Given the description of an element on the screen output the (x, y) to click on. 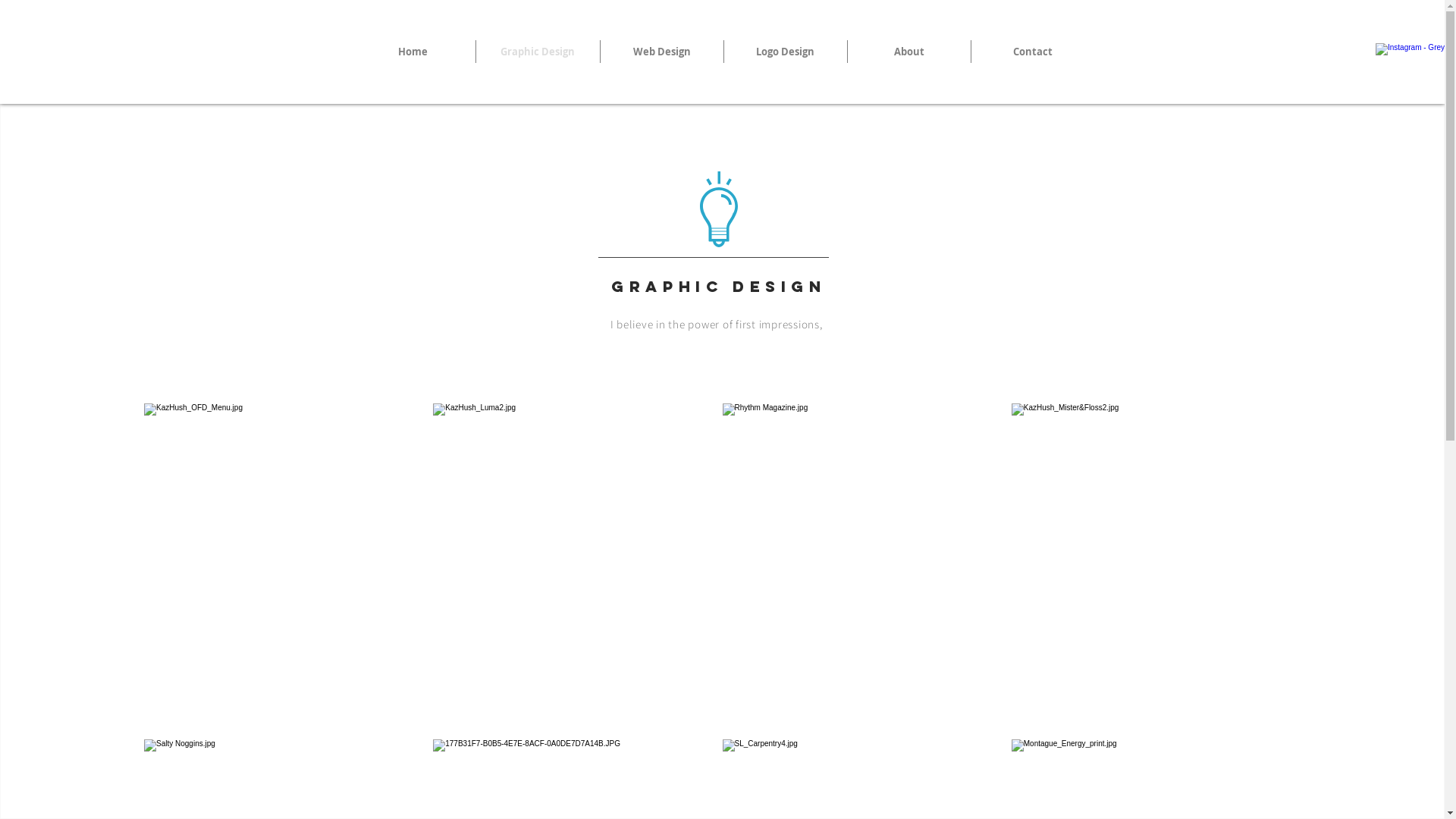
Contact Element type: text (1031, 51)
About Element type: text (908, 51)
Home Element type: text (412, 51)
Graphic Design Element type: text (537, 51)
Web Design Element type: text (661, 51)
Logo Design Element type: text (784, 51)
